Given the description of an element on the screen output the (x, y) to click on. 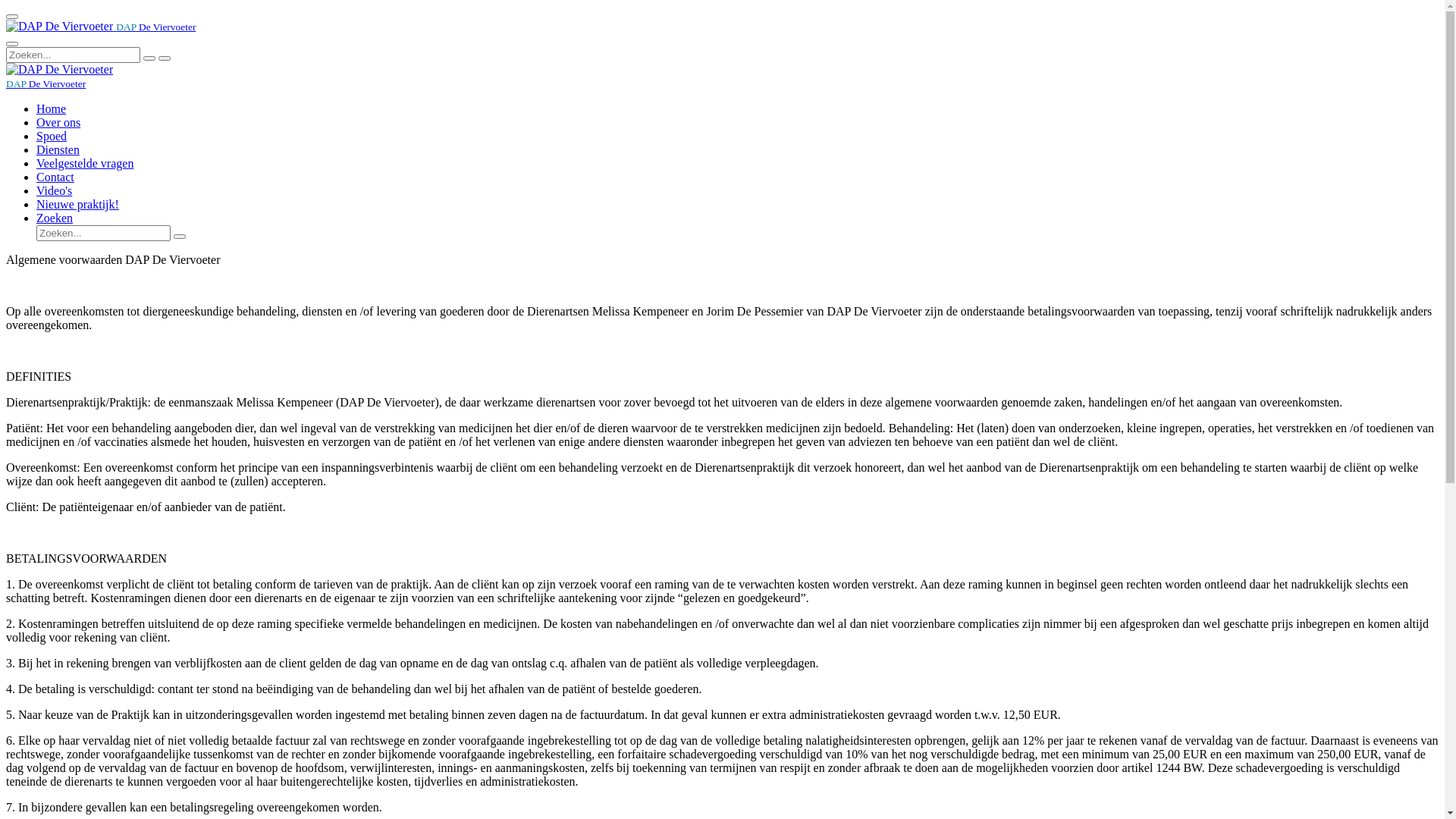
Contact Element type: text (55, 176)
DAP De Viervoeter Element type: hover (59, 26)
Over ons Element type: text (58, 122)
Veelgestelde vragen Element type: text (84, 162)
Home Element type: text (50, 108)
Video's Element type: text (54, 190)
Spoed Element type: text (51, 135)
DAP De Viervoeter Element type: hover (59, 69)
Nieuwe praktijk! Element type: text (77, 203)
DAP De Viervoeter Element type: text (100, 25)
Zoeken Element type: text (54, 217)
DAP De Viervoeter Element type: text (45, 82)
Diensten Element type: text (57, 149)
